Given the description of an element on the screen output the (x, y) to click on. 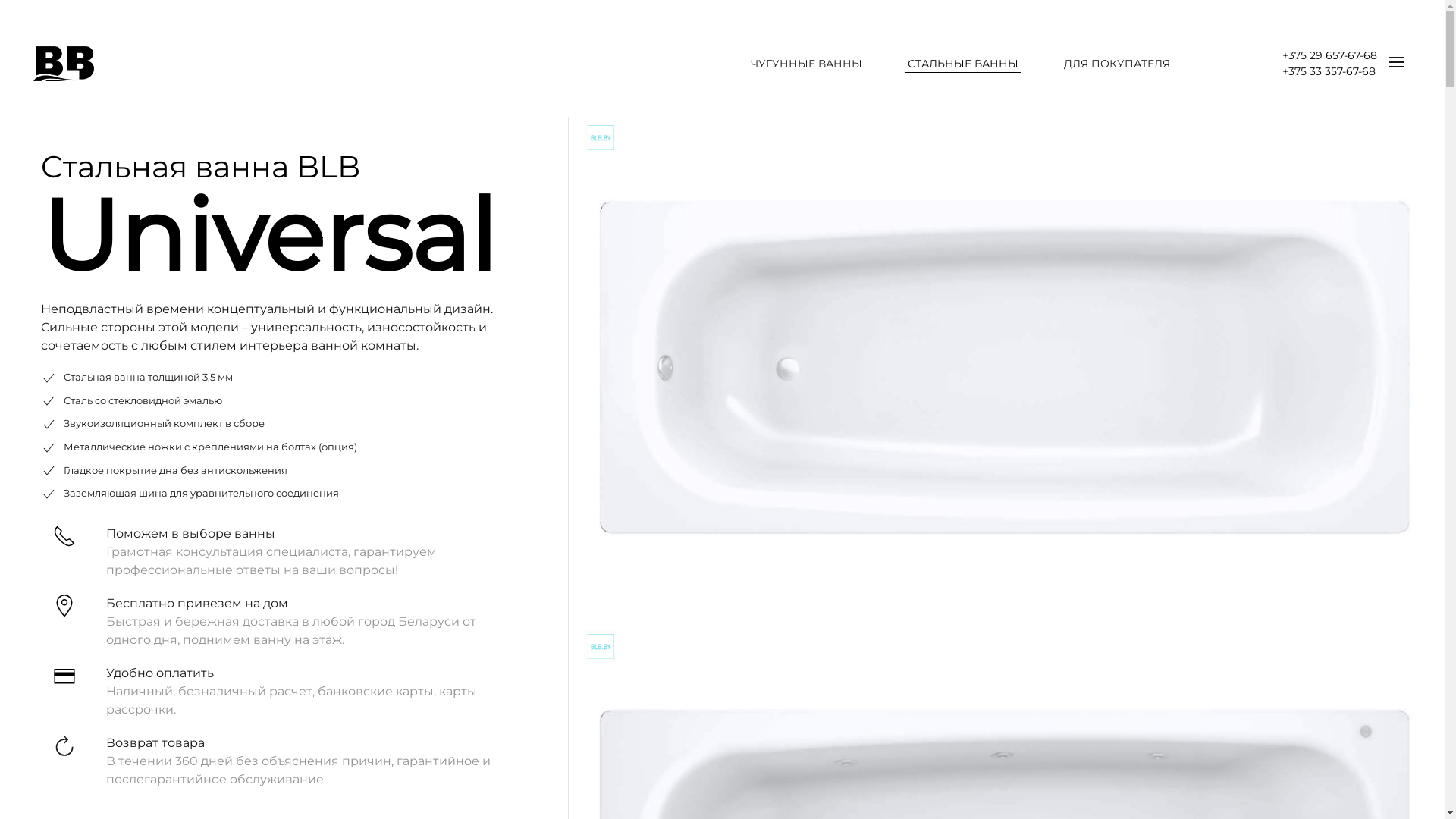
+375 33 357-67-68 Element type: text (1318, 71)
+375 29 657-67-68 Element type: text (1319, 55)
